Given the description of an element on the screen output the (x, y) to click on. 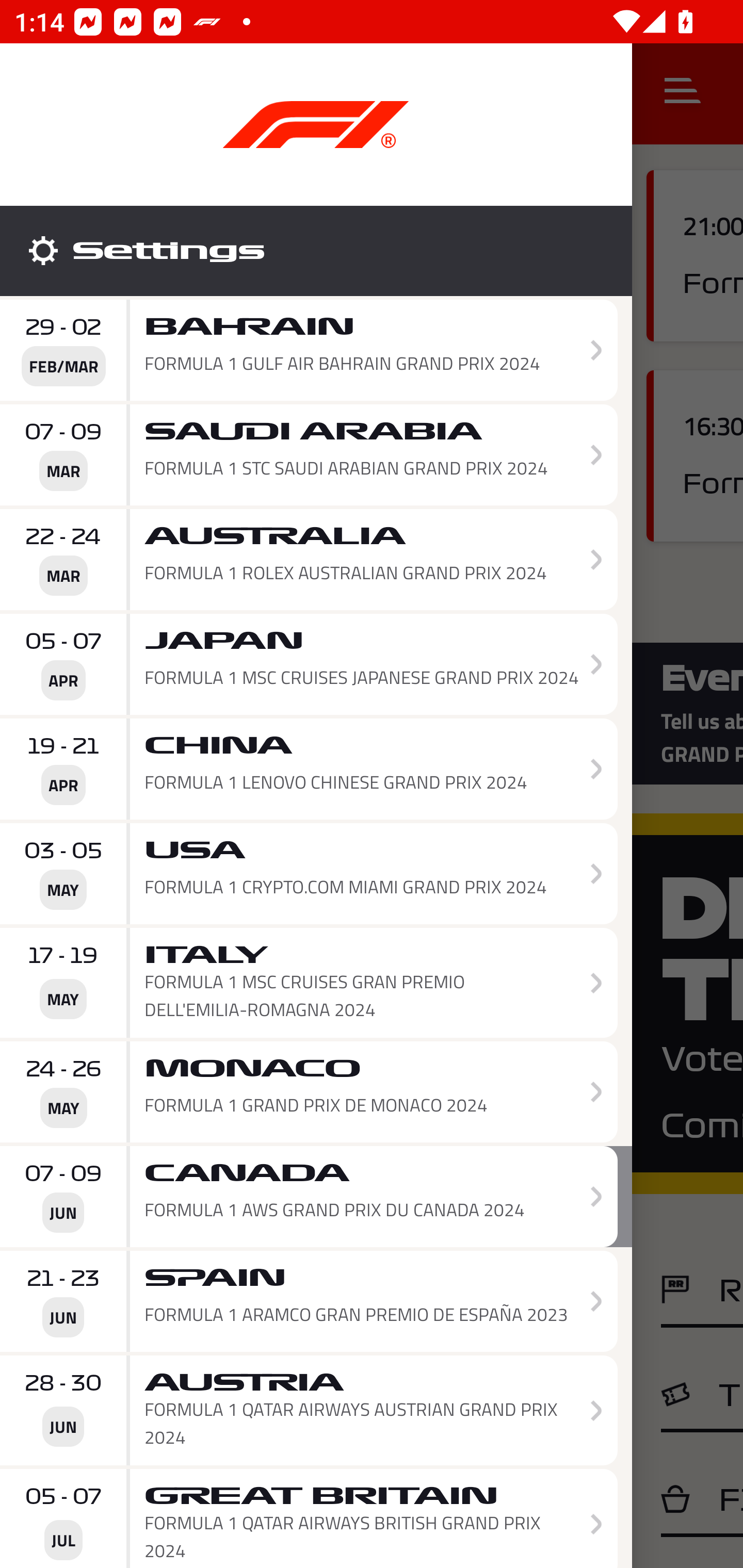
Settings (316, 250)
